Given the description of an element on the screen output the (x, y) to click on. 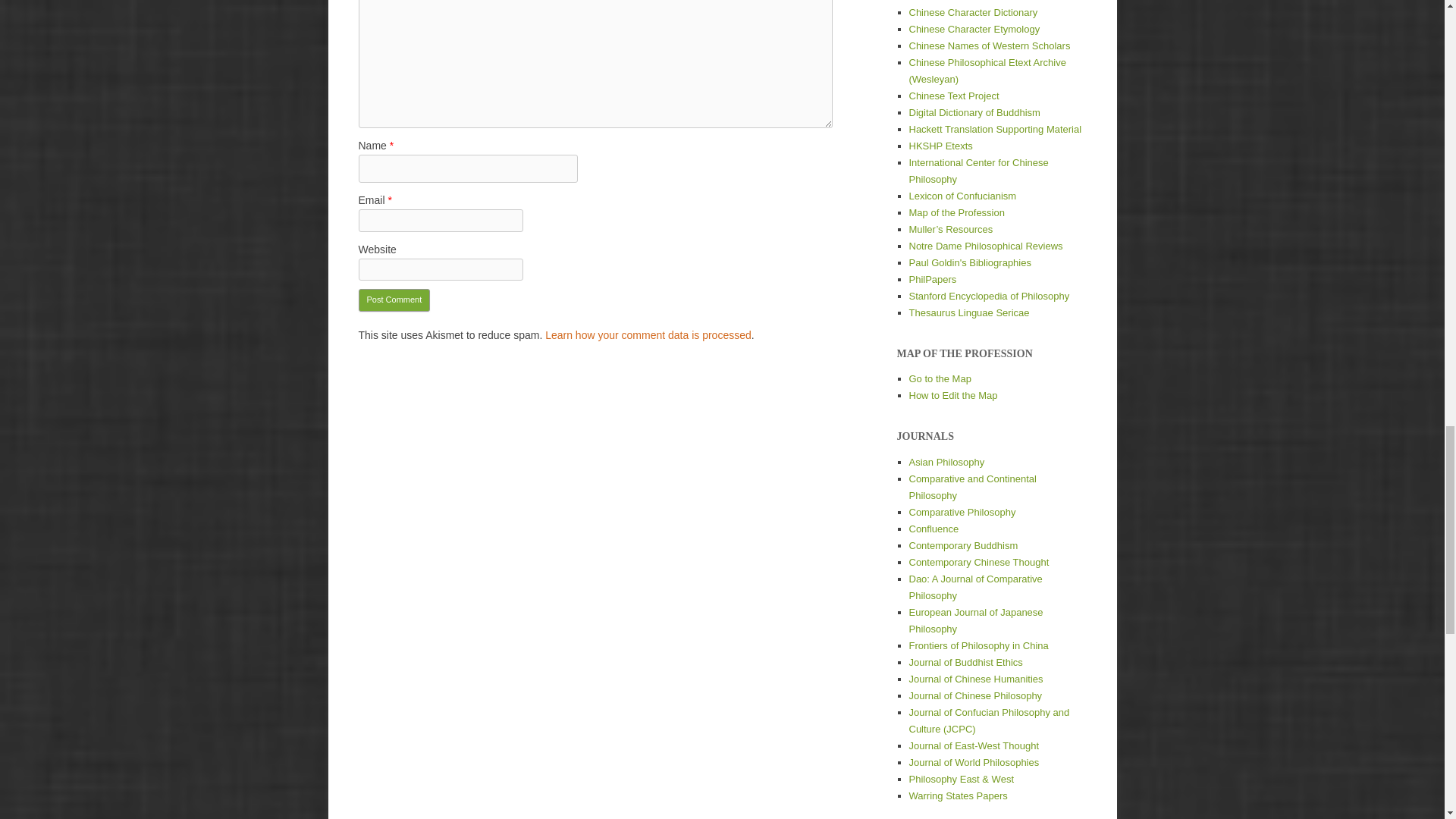
Post Comment (393, 300)
Contemporary Chinese scholarship in English (975, 678)
Post Comment (393, 300)
Chinese Philosophy: Map of the Profession (956, 212)
Chinese Buddhist Electronic Text Association (957, 0)
Learn how your comment data is processed (647, 335)
